Given the description of an element on the screen output the (x, y) to click on. 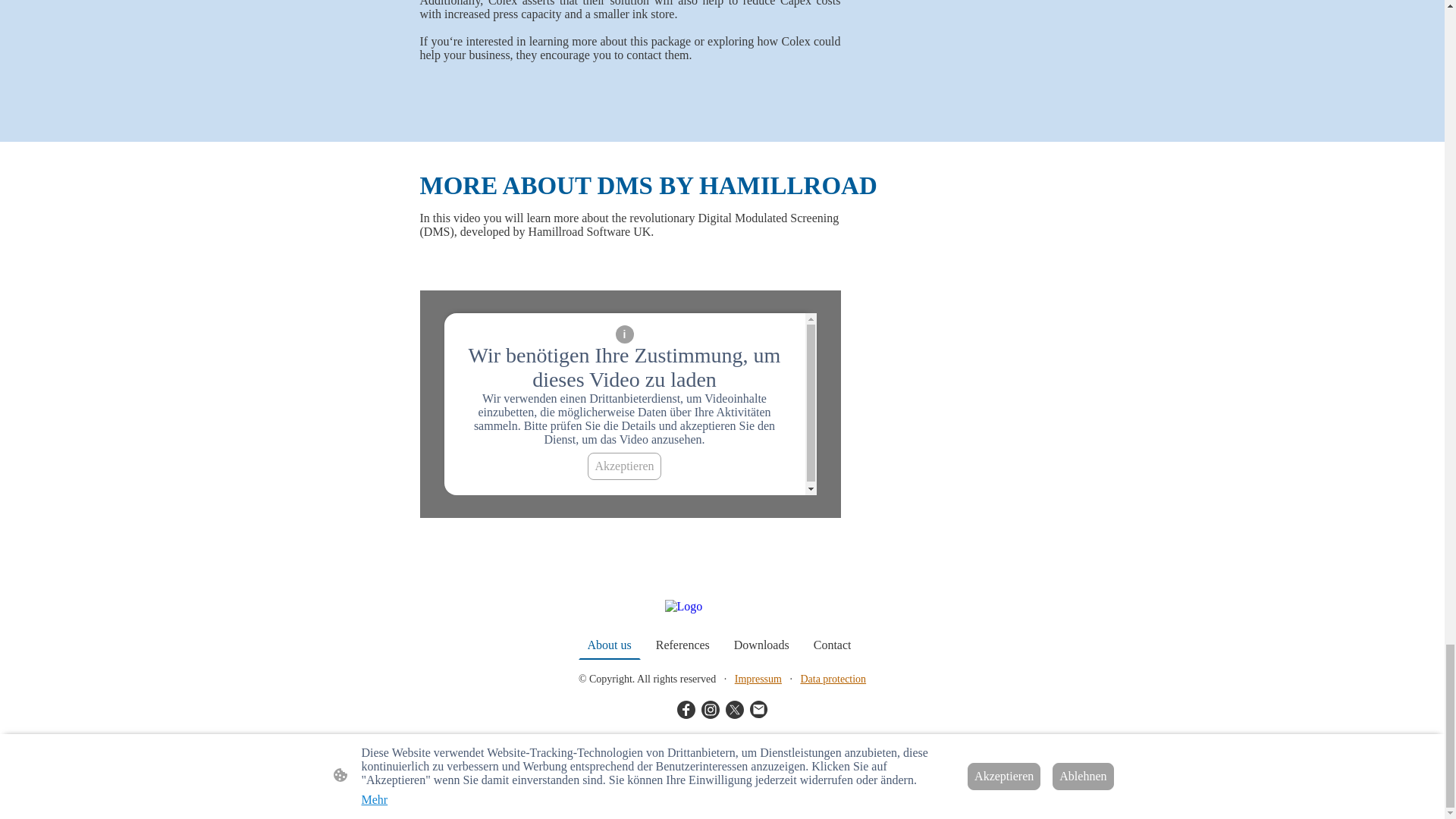
References (682, 645)
Contact (832, 645)
Data protection (832, 677)
About us (609, 645)
Downloads (761, 645)
Akzeptieren (624, 465)
Impressum (758, 677)
